Given the description of an element on the screen output the (x, y) to click on. 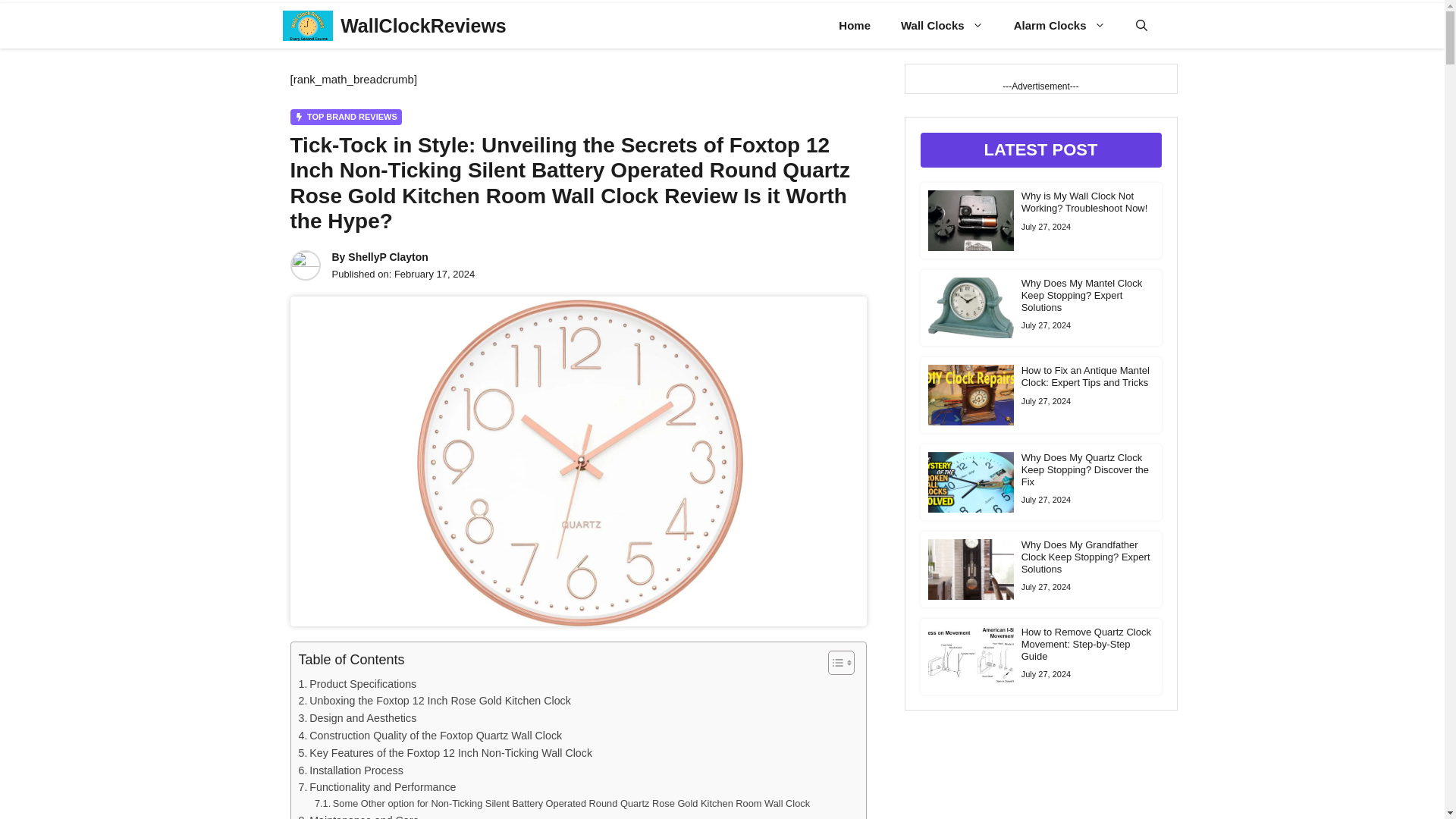
Construction Quality of the Foxtop Quartz Wall Clock (430, 735)
Functionality and Performance (377, 787)
WallClockReviews (423, 25)
Wall Clocks (941, 25)
Home (854, 25)
ShellyP Clayton (387, 256)
Maintenance and Care (358, 815)
Functionality and Performance (377, 787)
Design and Aesthetics (357, 718)
